Given the description of an element on the screen output the (x, y) to click on. 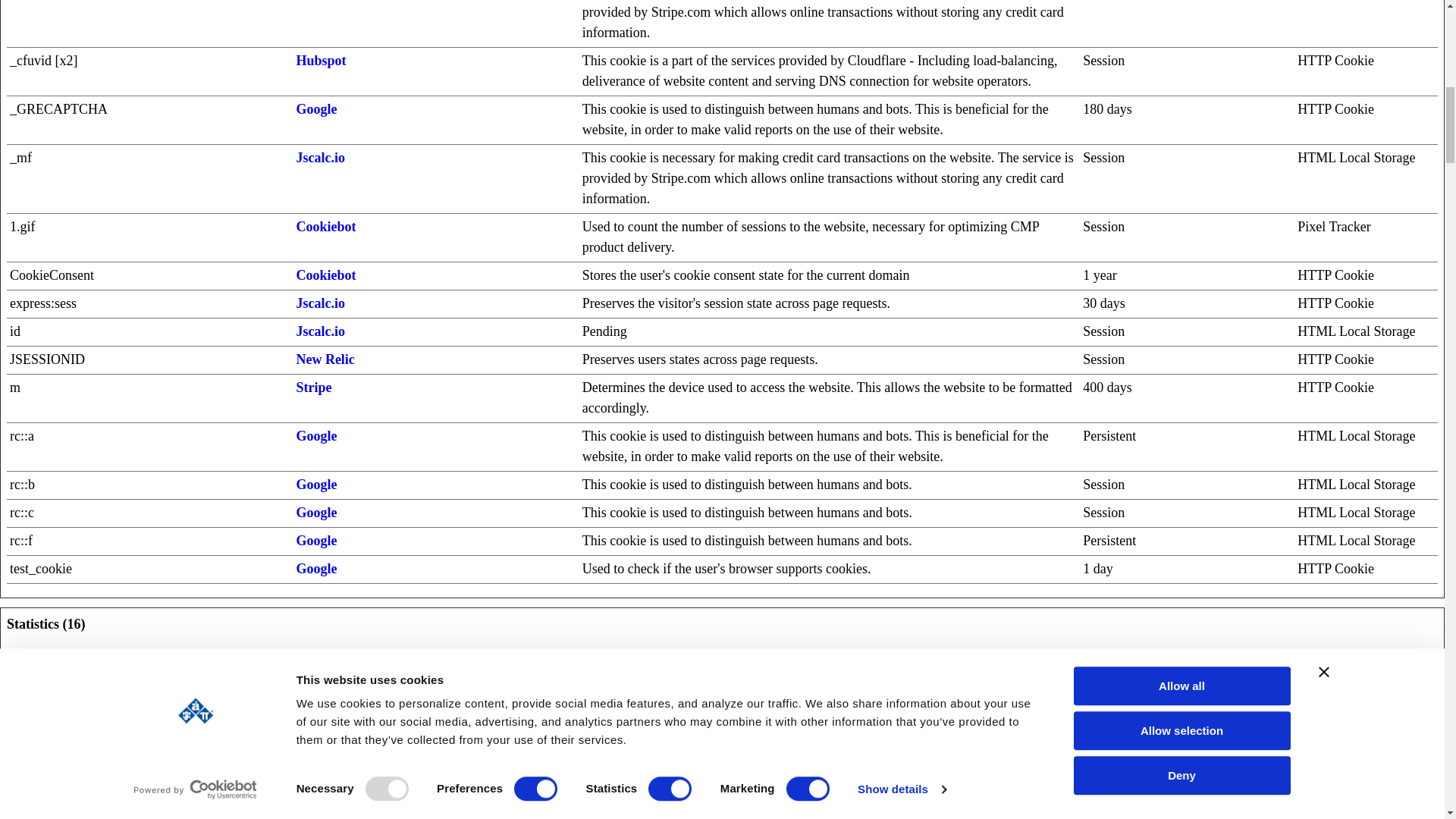
Google (315, 484)
Google's privacy policy (315, 568)
Google (315, 512)
Stripe's privacy policy (313, 387)
Jscalc.io's privacy policy (320, 157)
Google's privacy policy (315, 109)
Jscalc.io (320, 331)
Jscalc.io (320, 303)
Cookiebot (325, 226)
Google's privacy policy (315, 540)
Google (315, 435)
Jscalc.io's privacy policy (320, 331)
Google's privacy policy (315, 435)
Hubspot (320, 780)
Jscalc.io (320, 157)
